Given the description of an element on the screen output the (x, y) to click on. 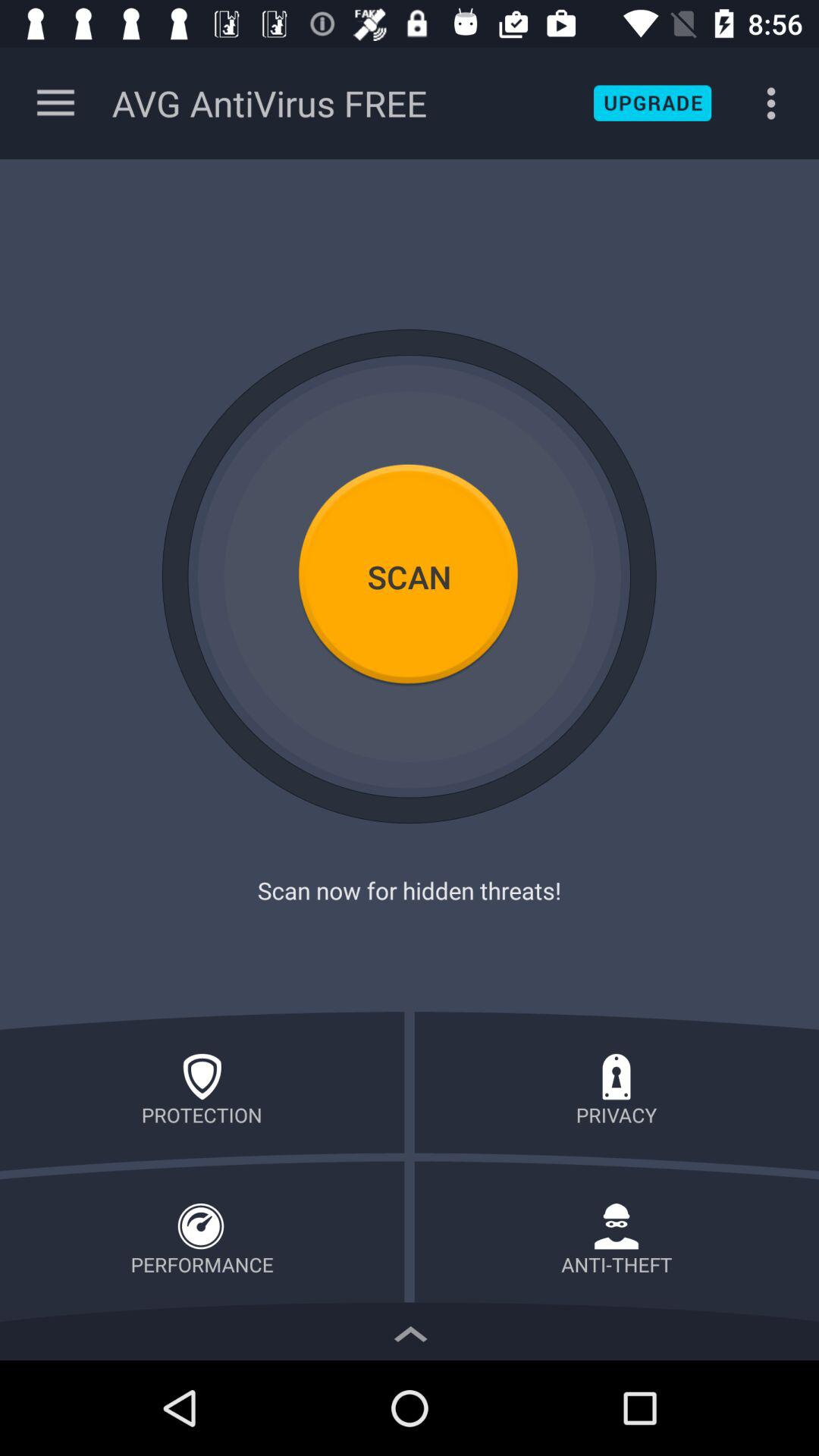
view hidden screen (409, 1330)
